Given the description of an element on the screen output the (x, y) to click on. 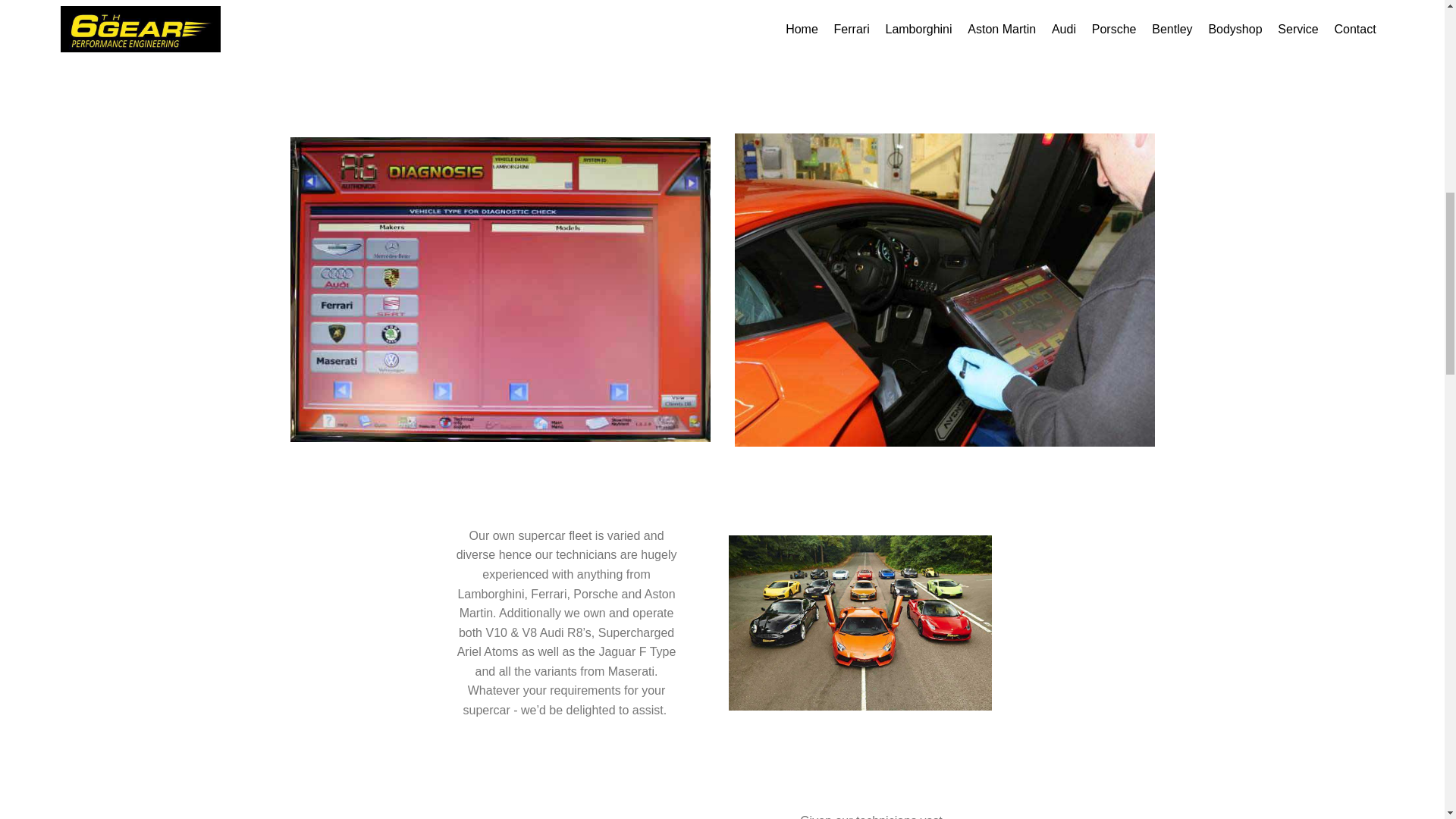
Supercar servicing (860, 622)
Diagnostic equipment (499, 289)
Ferrari Service (944, 289)
